Given the description of an element on the screen output the (x, y) to click on. 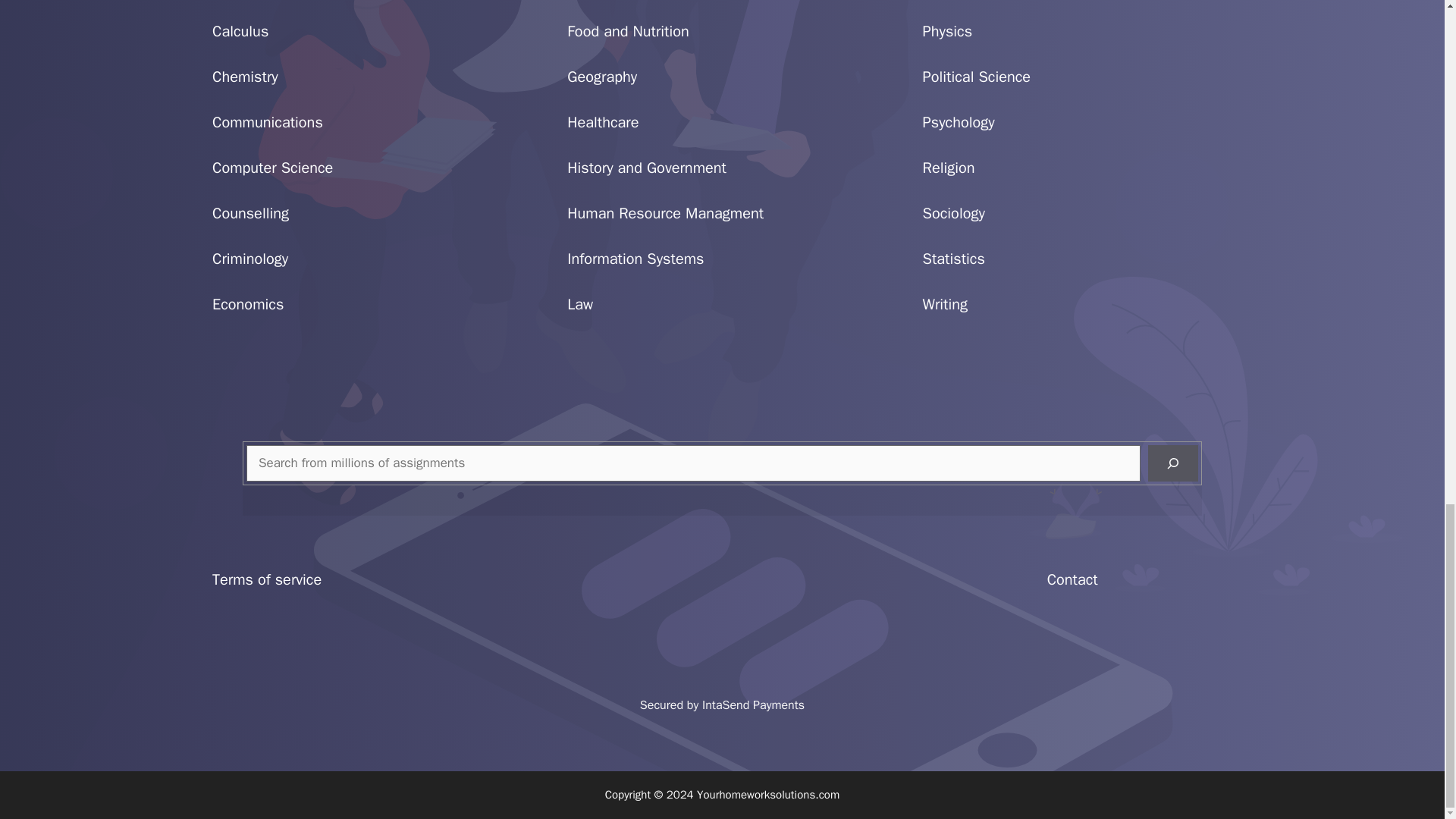
Counselling (250, 212)
Communications (267, 122)
Calculus (239, 31)
Chemistry (245, 76)
Scroll back to top (1406, 208)
Information Systems (635, 258)
Economics (247, 303)
Political Science (976, 76)
Food and Nutrition (627, 31)
Criminology (250, 258)
